Given the description of an element on the screen output the (x, y) to click on. 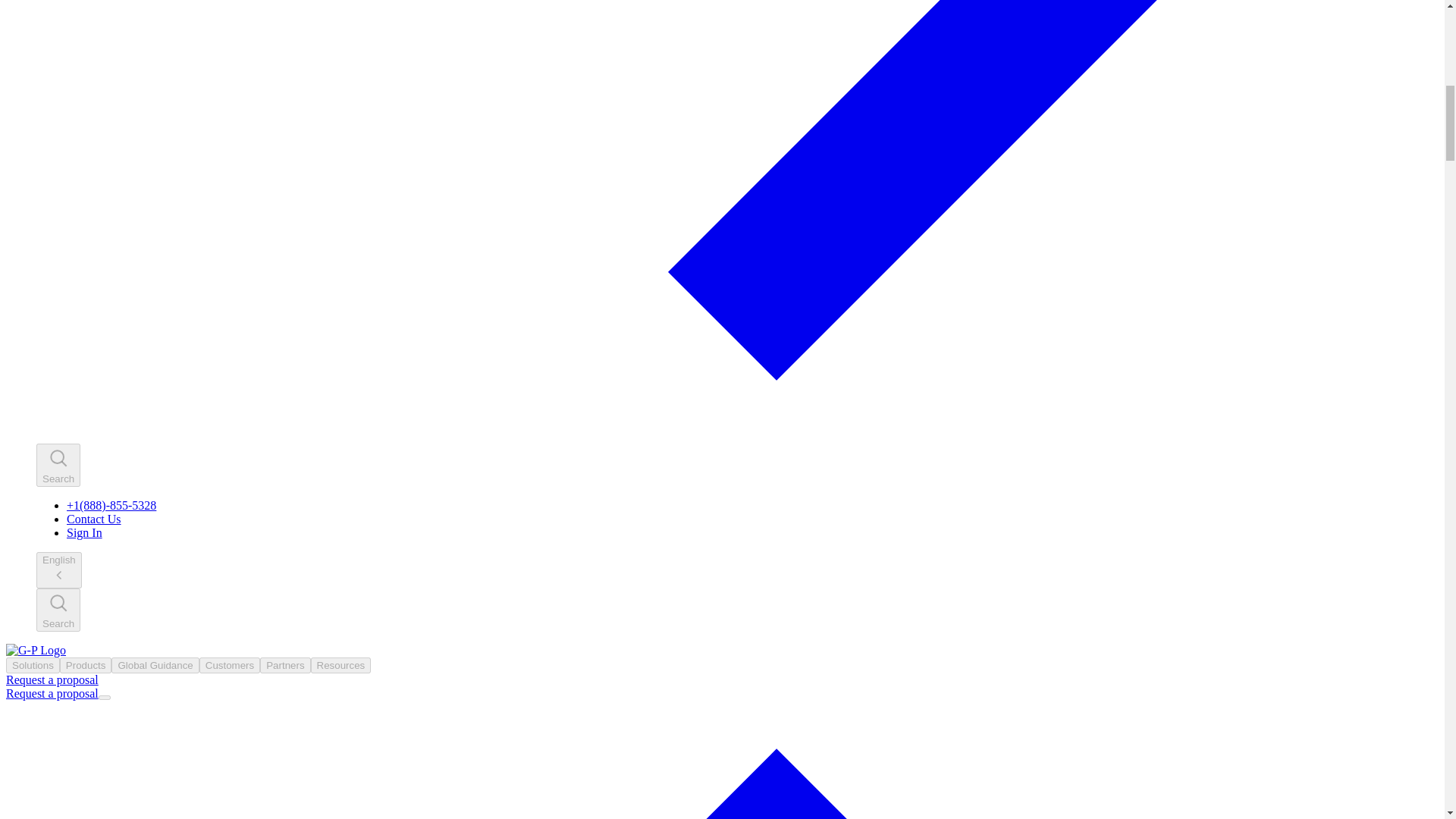
Partners (285, 665)
Contact Us (93, 518)
Products (85, 665)
Search (58, 464)
Search (58, 609)
English (58, 570)
Sign In (83, 532)
Solutions (32, 665)
Customers (229, 665)
Global Guidance (155, 665)
Resources (341, 665)
Request a proposal (52, 693)
